Given the description of an element on the screen output the (x, y) to click on. 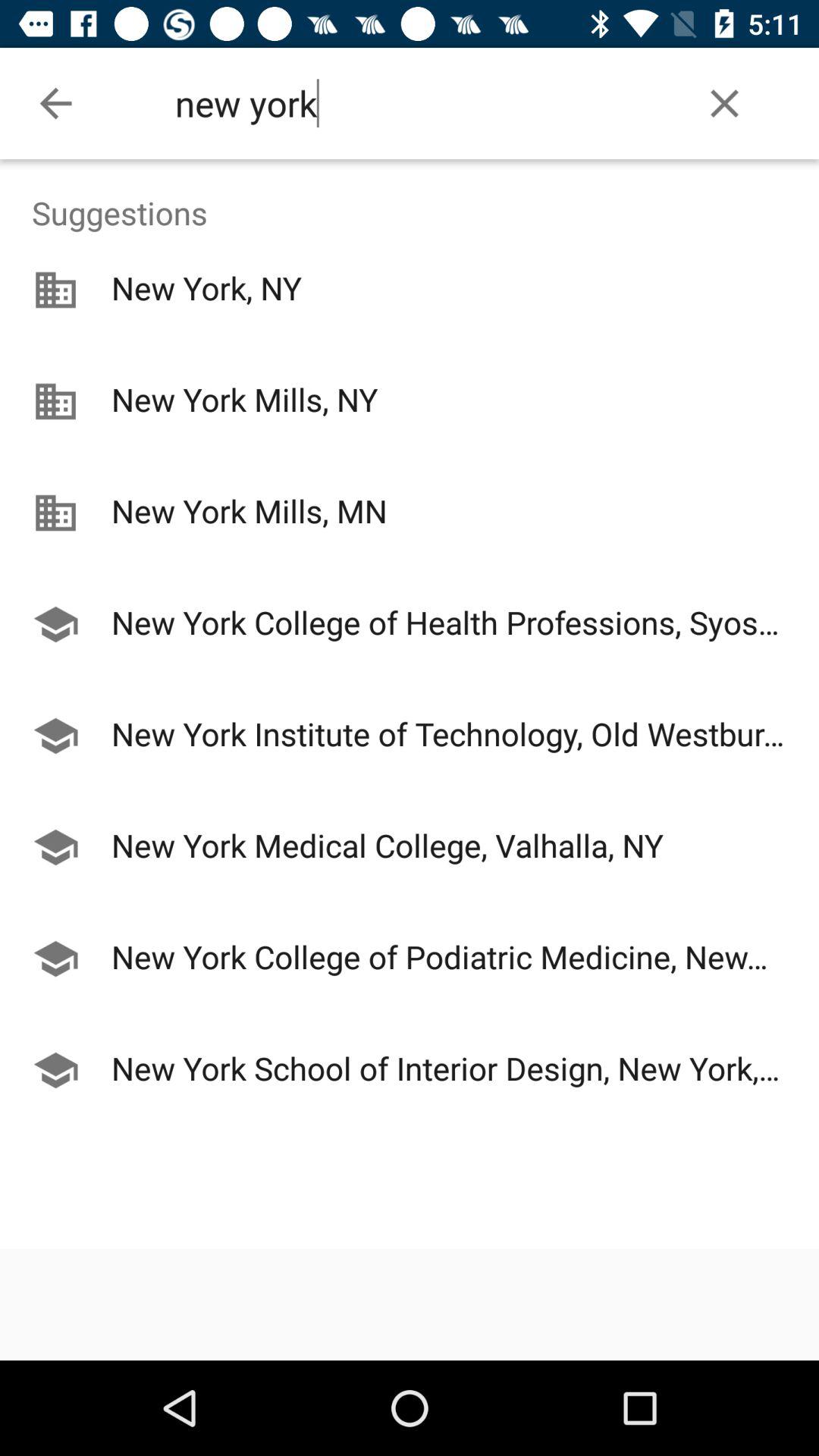
click the item at the top left corner (55, 103)
